Given the description of an element on the screen output the (x, y) to click on. 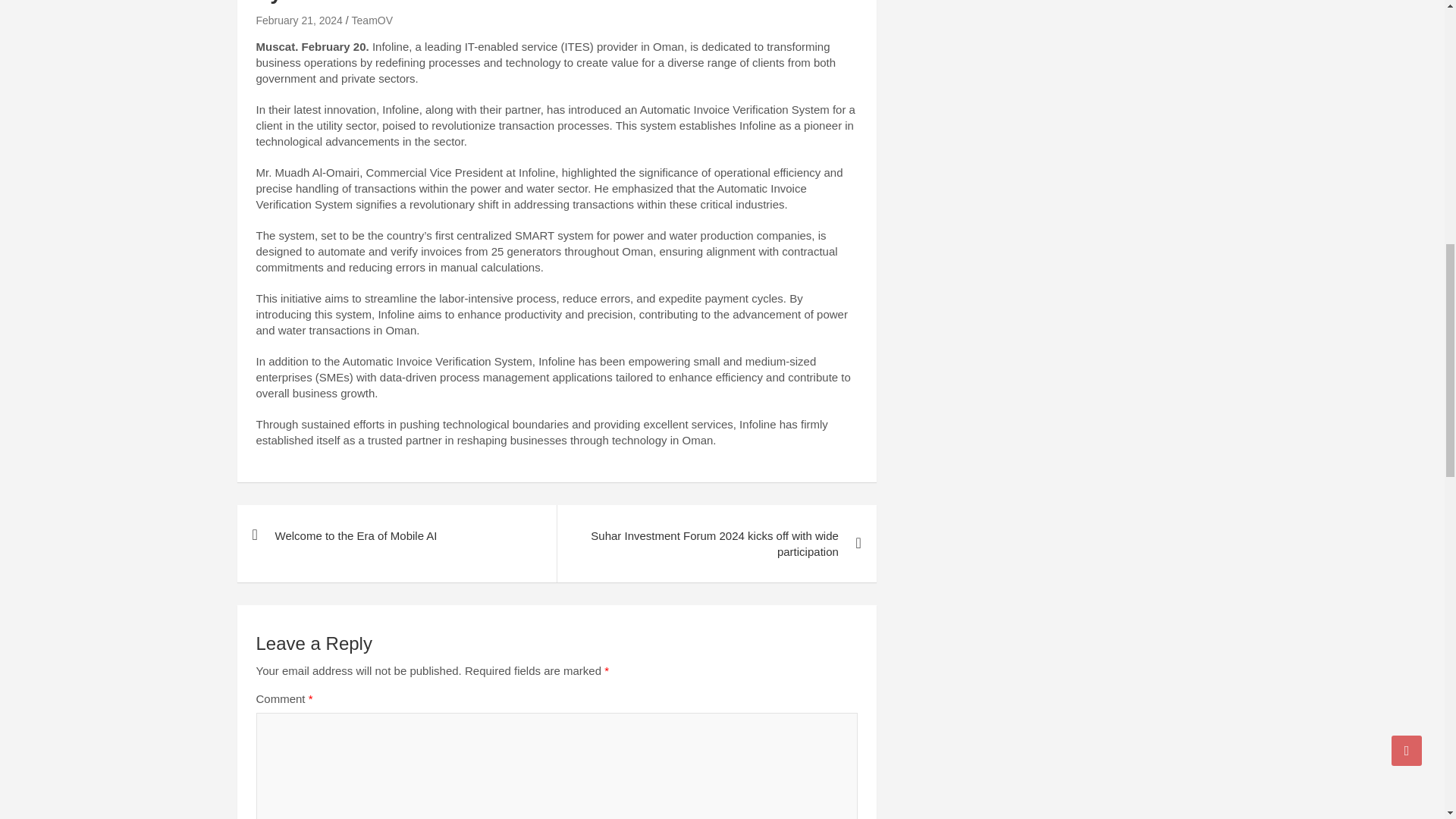
TeamOV (372, 20)
February 21, 2024 (299, 20)
Welcome to the Era of Mobile AI (395, 535)
